Given the description of an element on the screen output the (x, y) to click on. 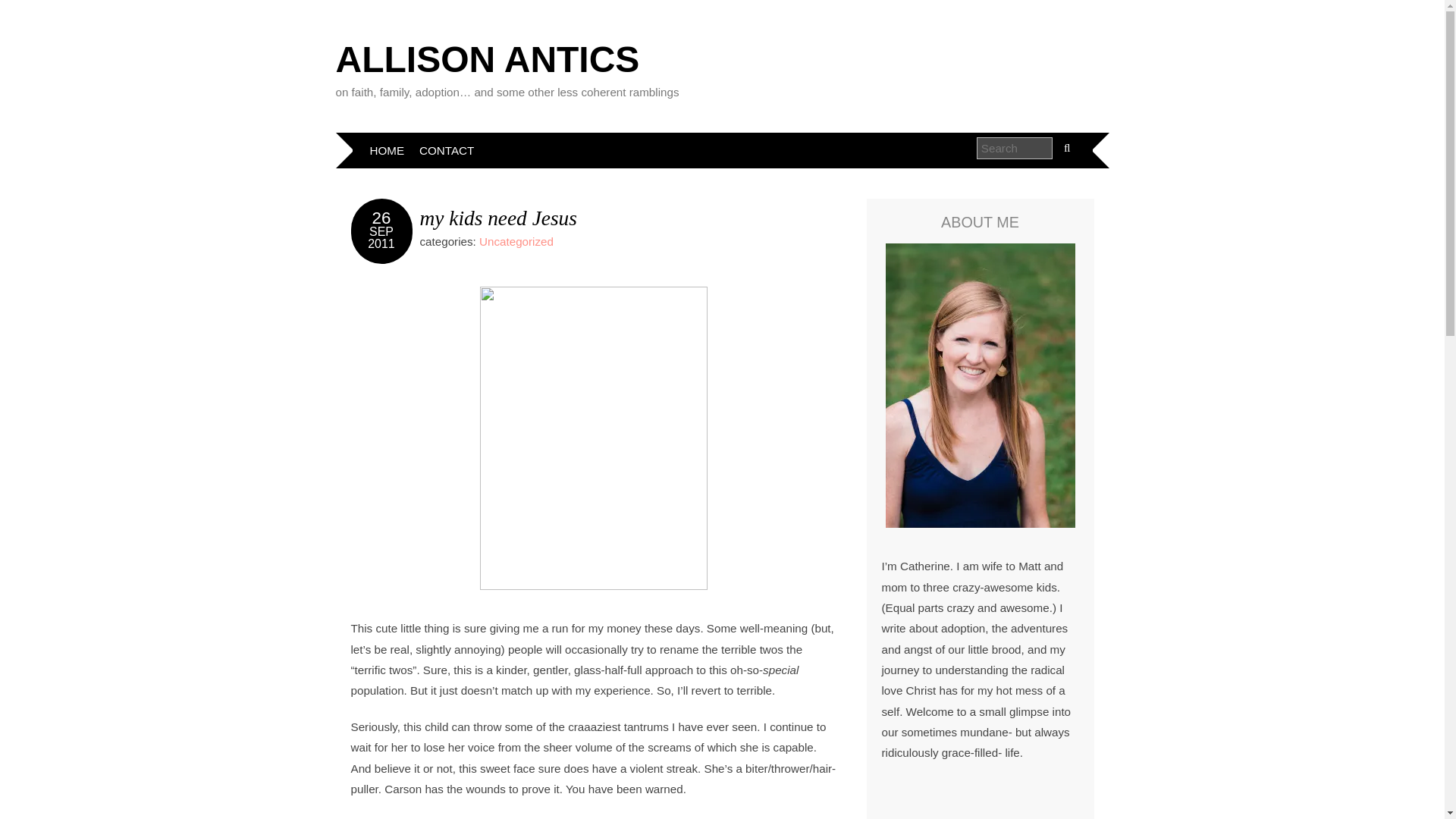
CONTACT (446, 150)
HOME (387, 150)
Uncategorized (516, 241)
my kids need Jesus (498, 218)
26 (381, 217)
ALLISON ANTICS (486, 59)
